Given the description of an element on the screen output the (x, y) to click on. 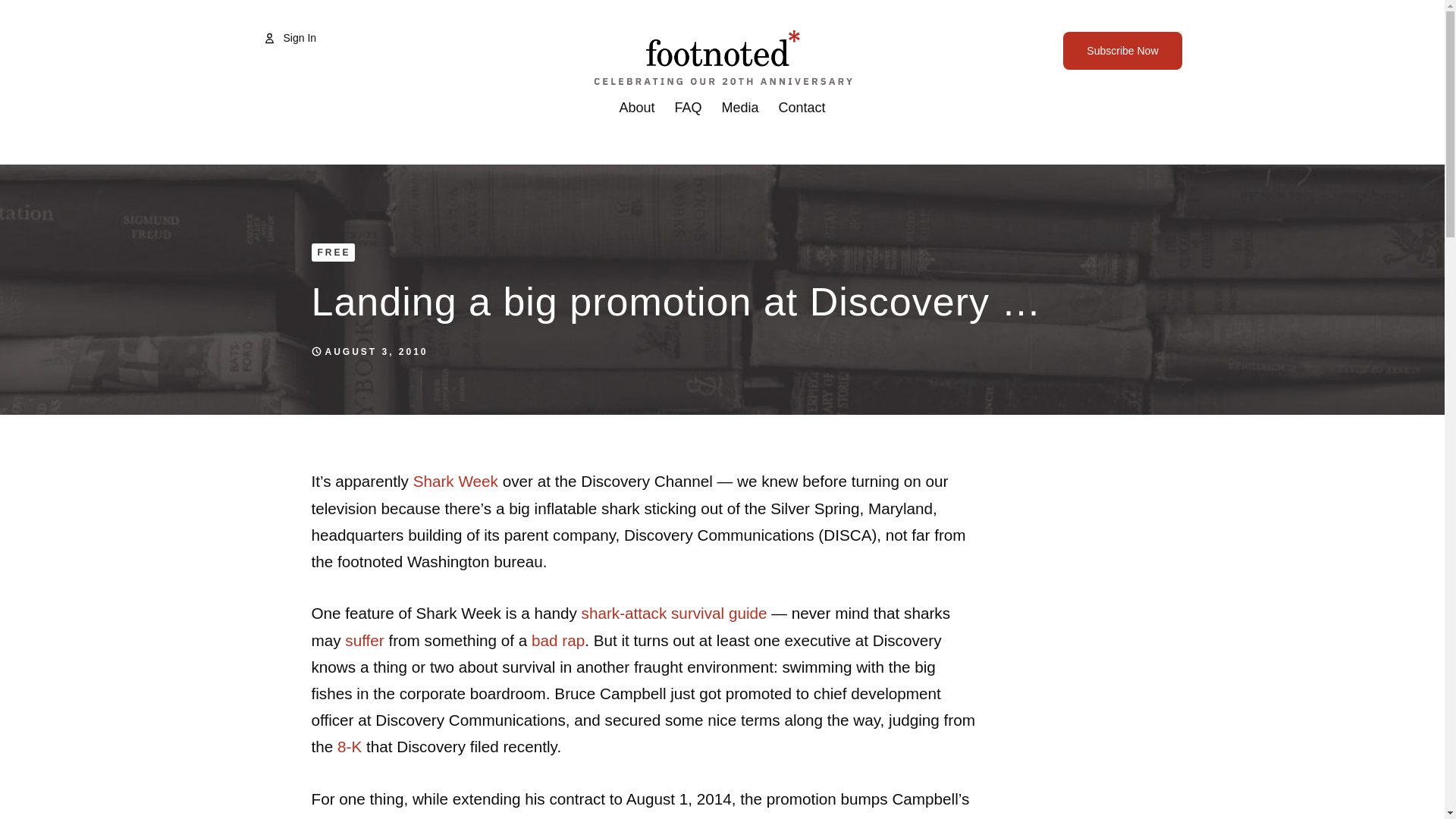
Subscribe Now (1122, 50)
Contact (801, 107)
FAQ (687, 107)
suffer (364, 640)
Shark Week (455, 480)
About (635, 107)
bad rap (558, 640)
shark-attack survival guide (673, 612)
Sign In (296, 38)
8-K (349, 746)
